Given the description of an element on the screen output the (x, y) to click on. 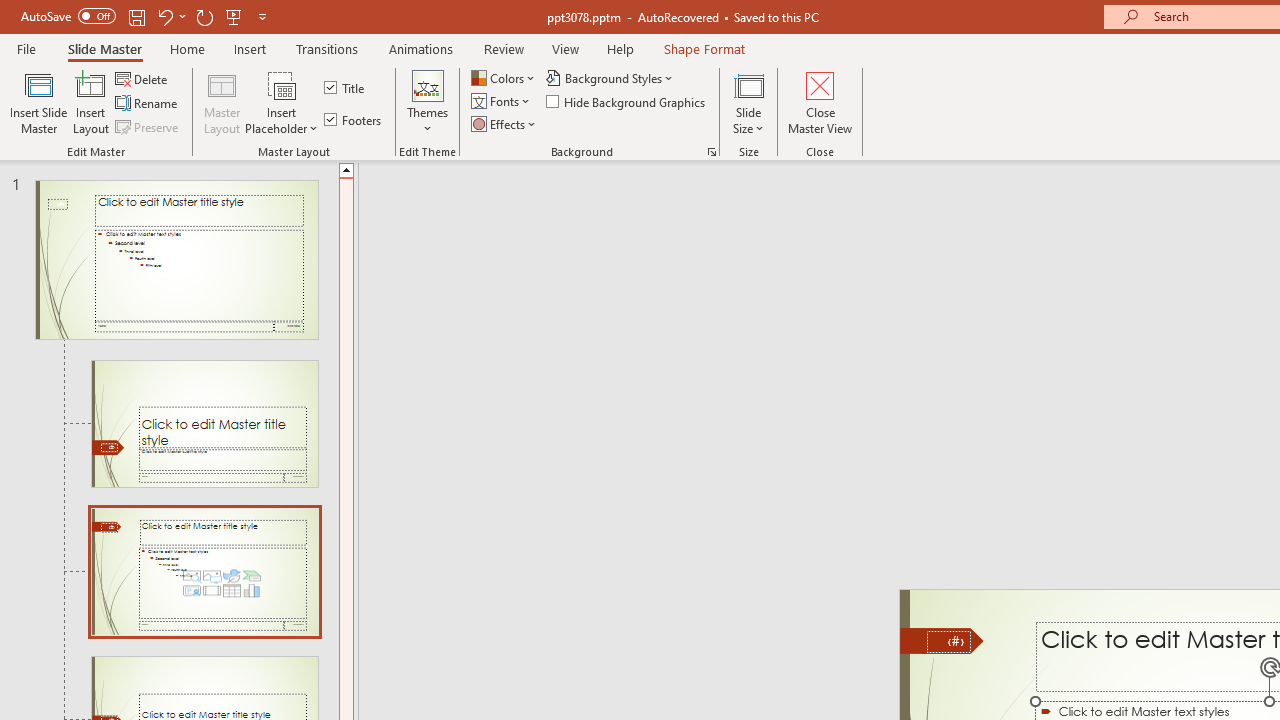
Freeform 11 (941, 640)
Master Layout... (221, 102)
Background Styles (610, 78)
Fonts (502, 101)
Shape Format (704, 48)
Rename (148, 103)
Close Master View (820, 102)
